Given the description of an element on the screen output the (x, y) to click on. 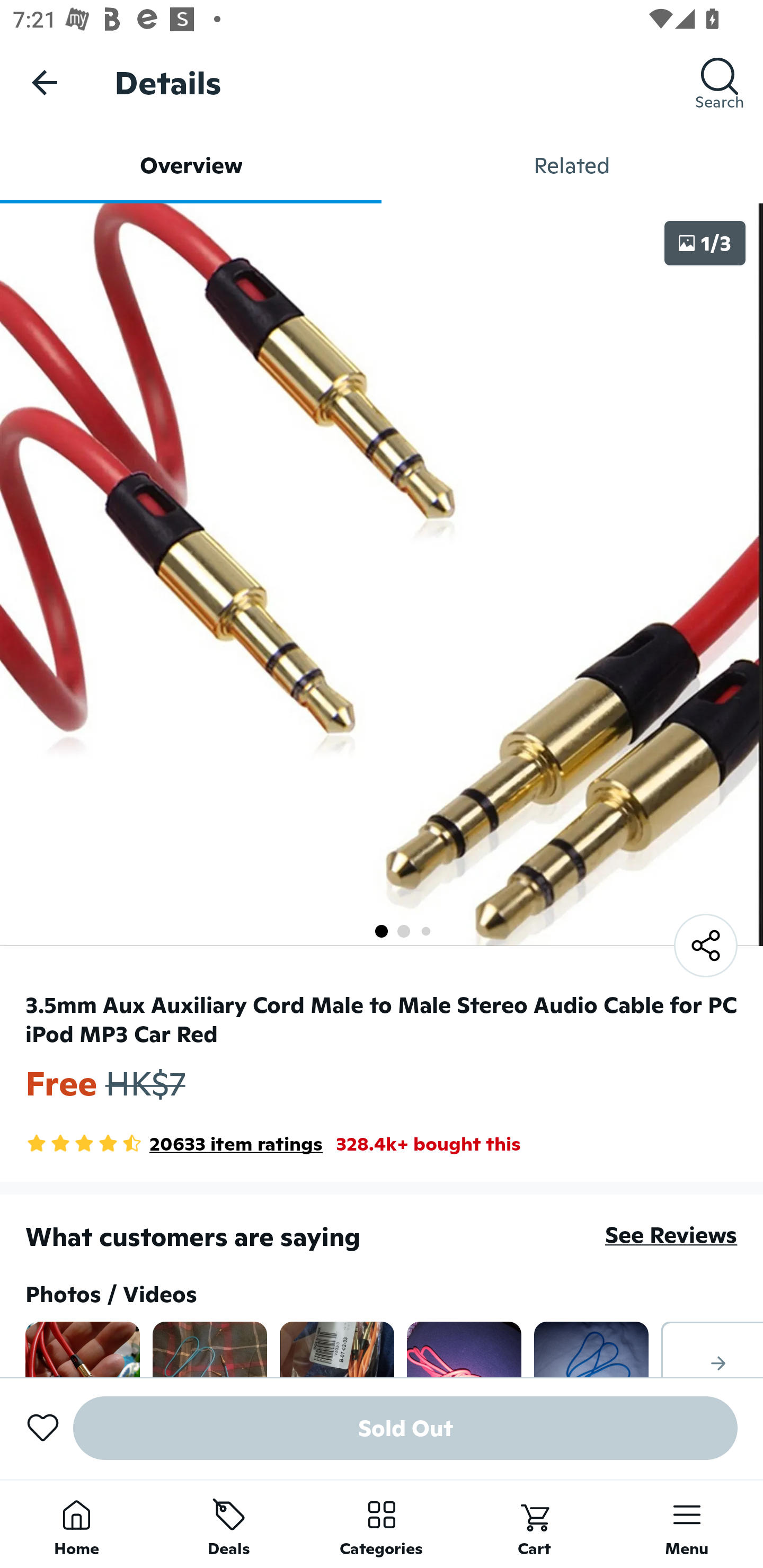
Navigate up (44, 82)
Search (719, 82)
Related (572, 165)
1/3 (705, 242)
4.3 Star Rating 20633 item ratings (174, 1143)
See Reviews (671, 1234)
Right arrow (712, 1348)
Sold Out (405, 1428)
Home (76, 1523)
Deals (228, 1523)
Categories (381, 1523)
Cart (533, 1523)
Menu (686, 1523)
